Given the description of an element on the screen output the (x, y) to click on. 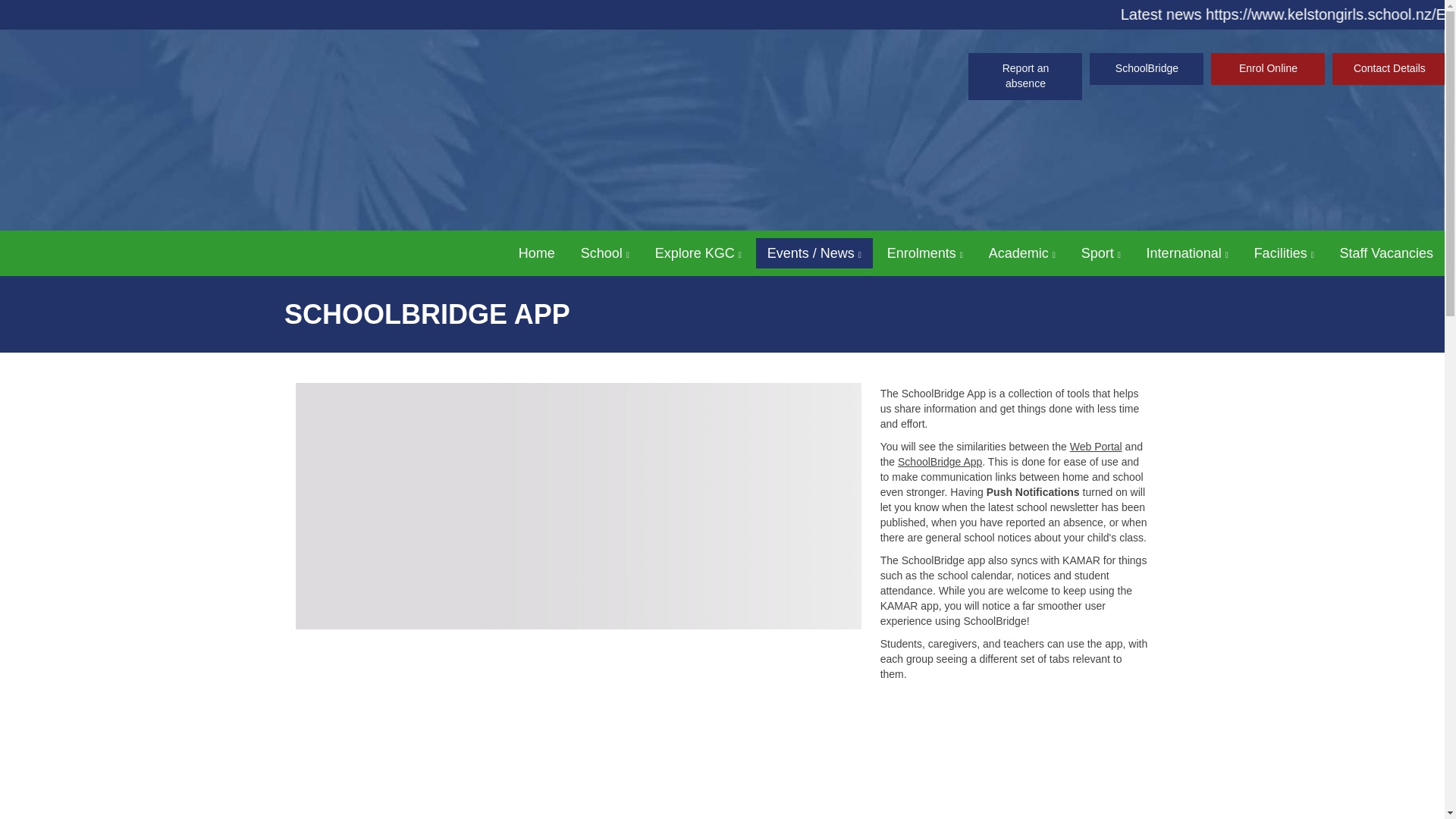
Contact Details (1388, 69)
Enrol Online (1267, 69)
School (604, 253)
Explore KGC (697, 253)
Home (536, 253)
Report an absence (1024, 76)
SchoolBridge (1146, 69)
